Given the description of an element on the screen output the (x, y) to click on. 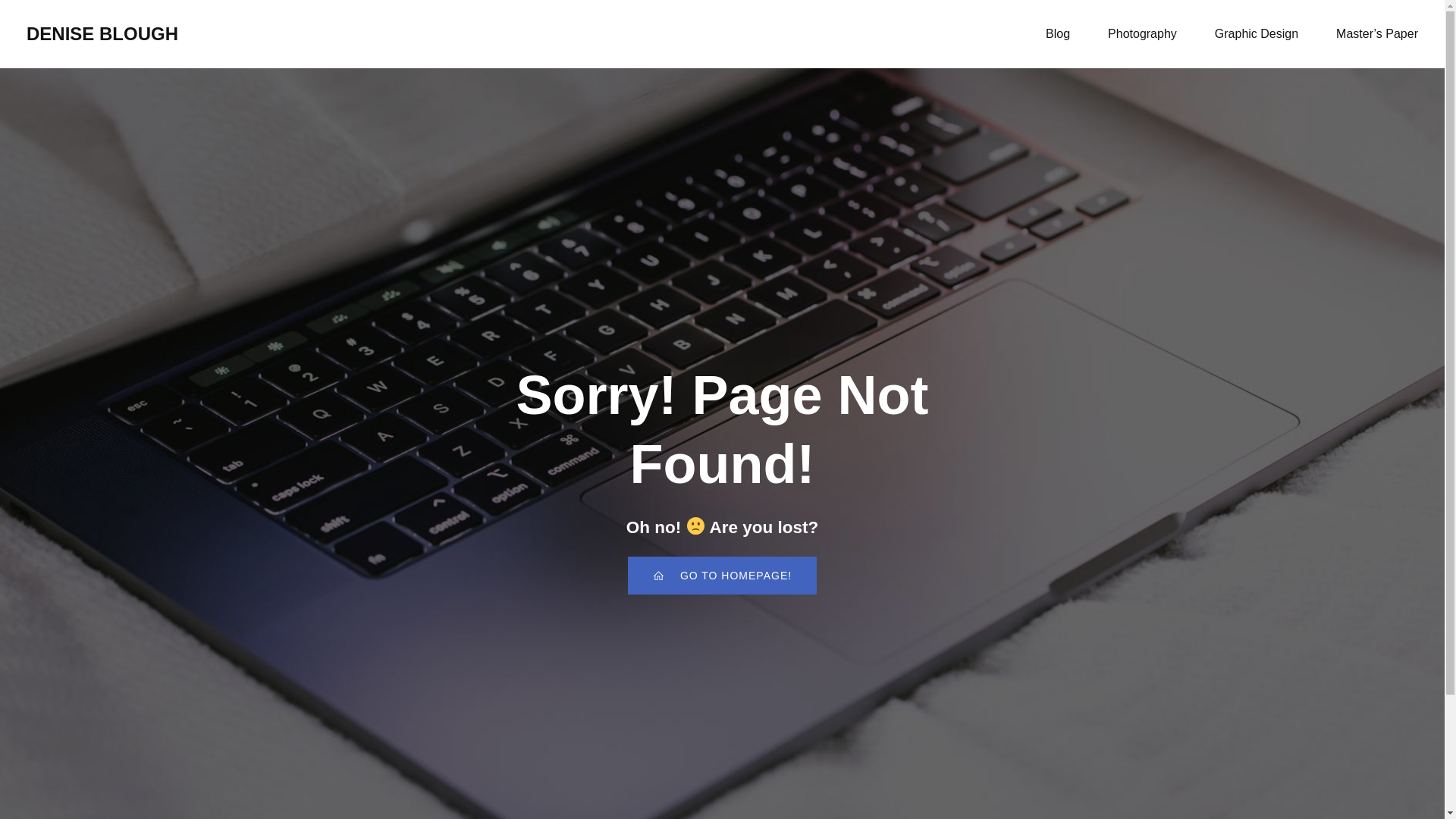
Graphic Design (1256, 33)
Photography (1142, 33)
GO TO HOMEPAGE! (721, 575)
DENISE BLOUGH (101, 33)
